Given the description of an element on the screen output the (x, y) to click on. 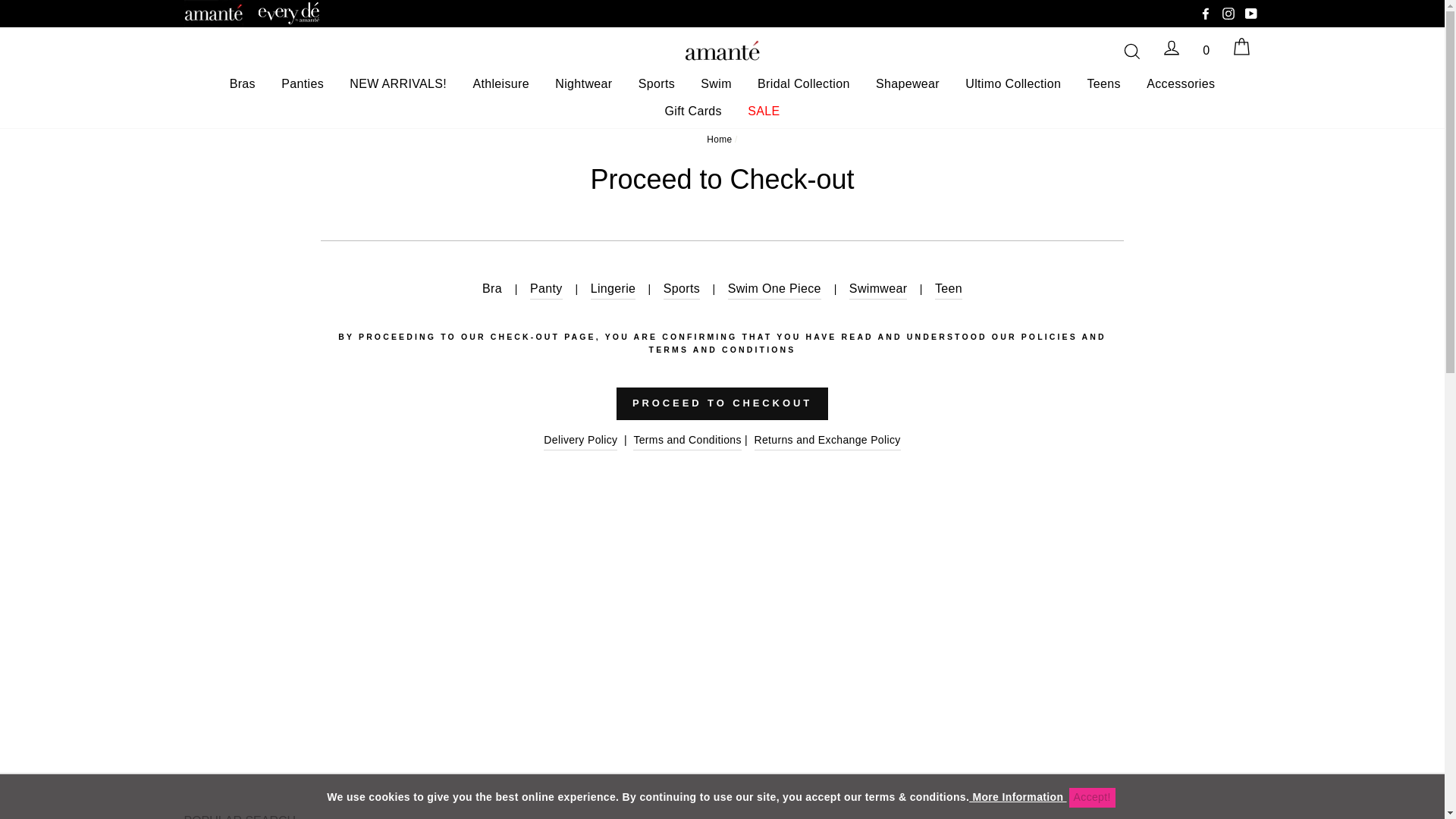
Back to the frontpage (719, 139)
 Proceed to checkout (721, 403)
